Given the description of an element on the screen output the (x, y) to click on. 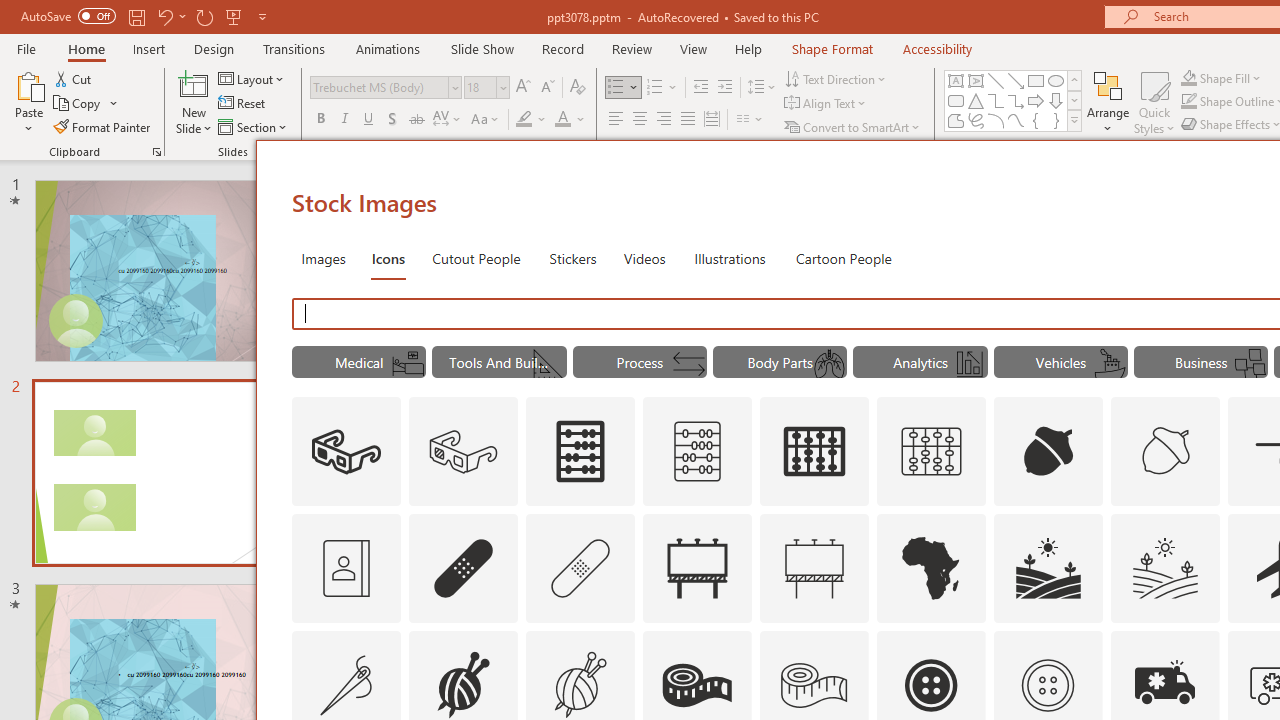
AutomationID: Icons_3dGlasses (346, 452)
"Vehicles" Icons. (1060, 362)
AutomationID: Icons (1047, 685)
AutomationID: Icons_AdhesiveBandage (463, 568)
